Given the description of an element on the screen output the (x, y) to click on. 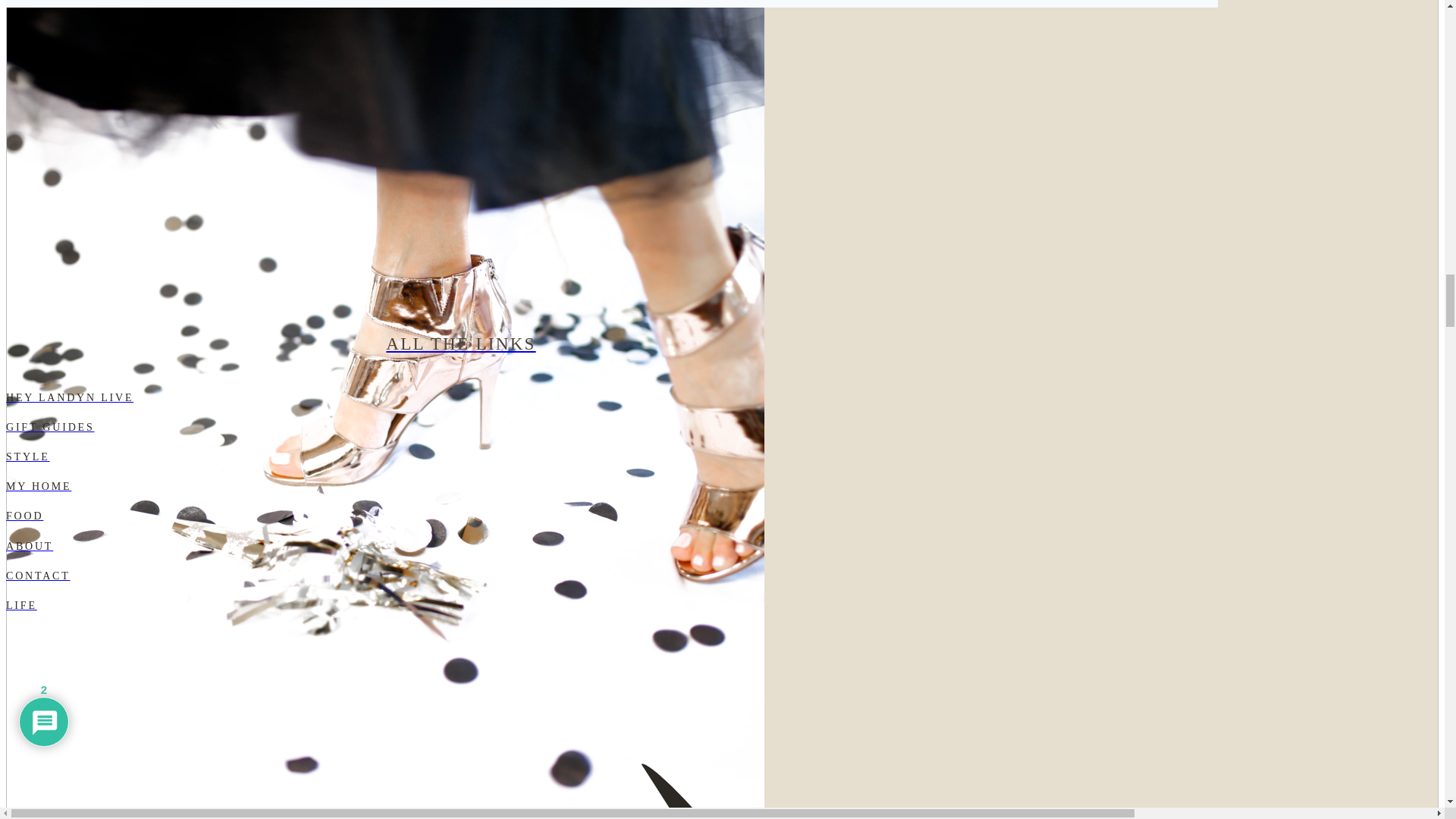
arrow (460, 409)
